Given the description of an element on the screen output the (x, y) to click on. 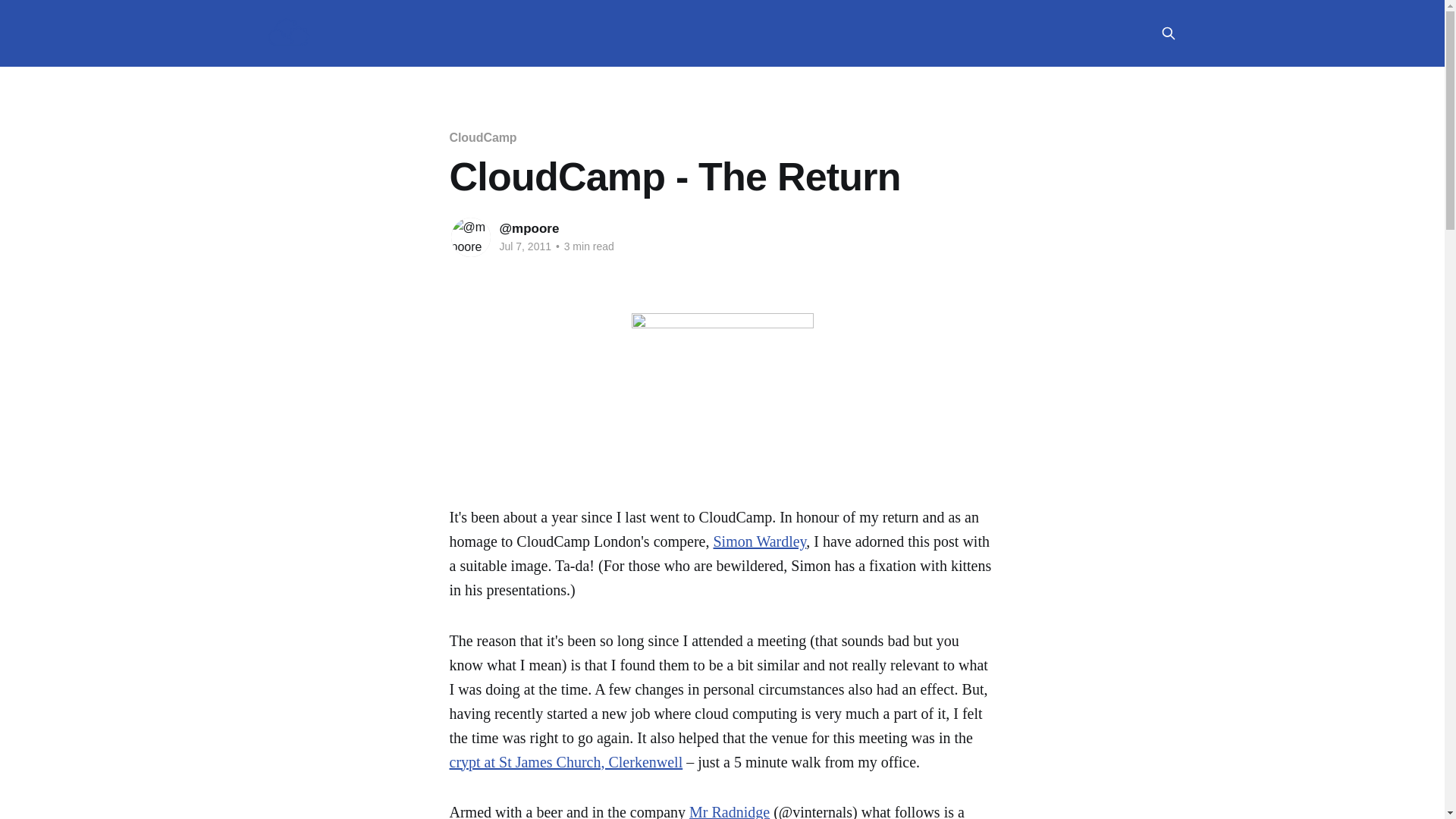
crypt at St James Church, Clerkenwell (565, 761)
cat-kitten-with-silly-hat-dancing-animated-1-DHD (721, 408)
CloudCamp (482, 137)
Mr Radnidge (729, 811)
Simon Wardley (759, 541)
